Given the description of an element on the screen output the (x, y) to click on. 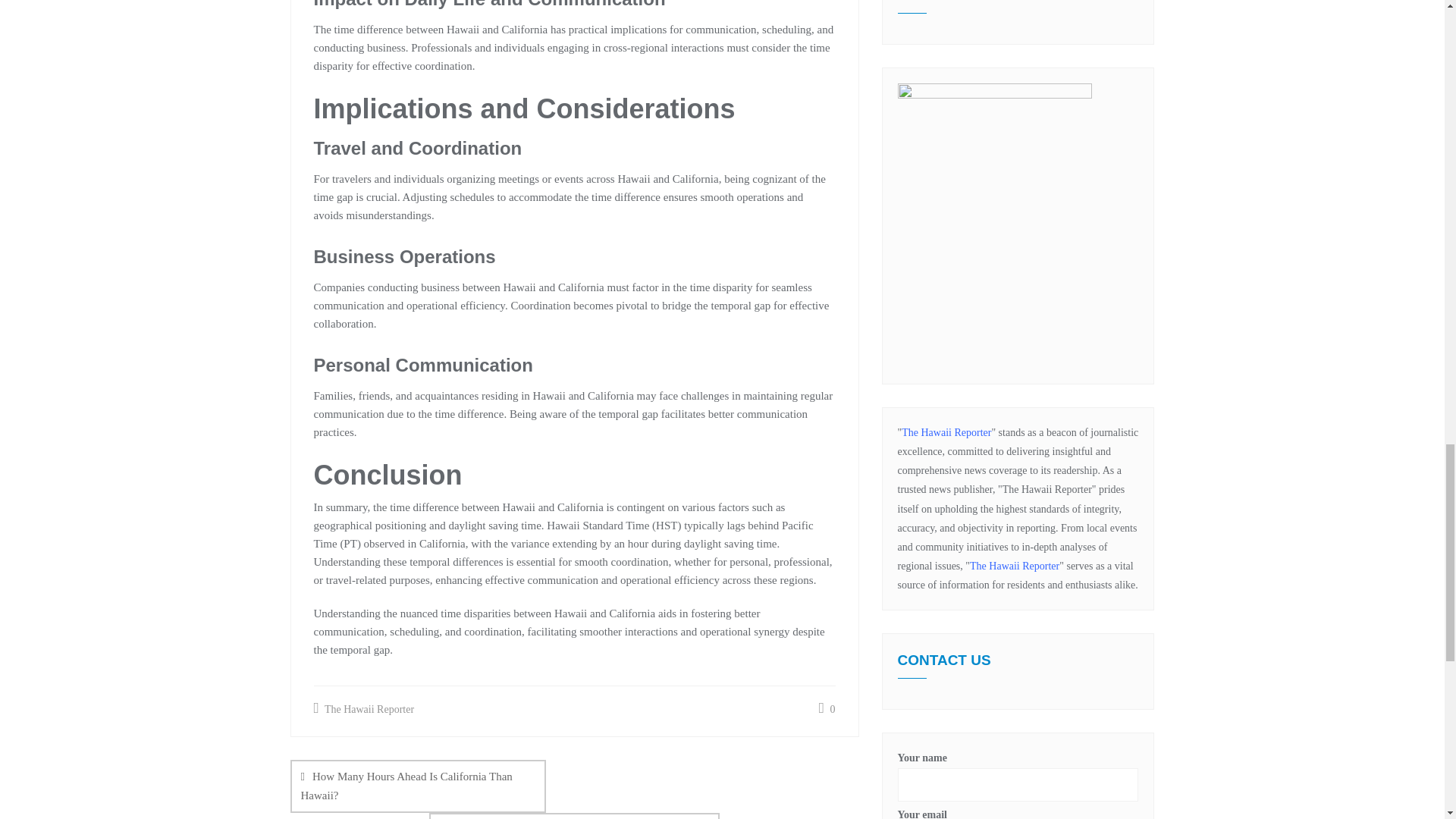
Exploring the Hawaii Time Difference From West Coast (574, 816)
How Many Hours Ahead Is California Than Hawaii? (417, 786)
The Hawaii Reporter (364, 709)
